Given the description of an element on the screen output the (x, y) to click on. 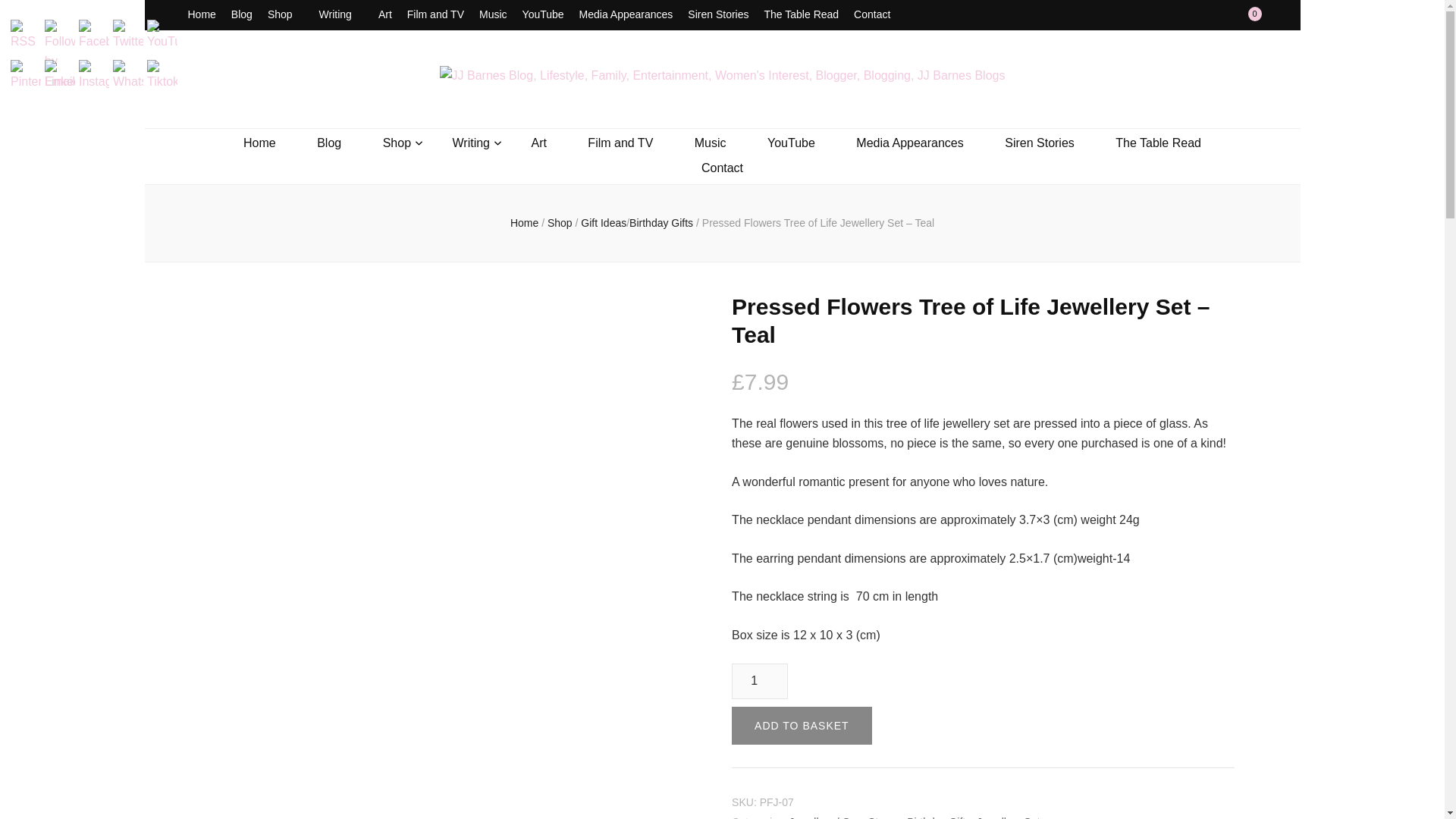
Home (201, 15)
1 (759, 681)
Shop (285, 15)
